Given the description of an element on the screen output the (x, y) to click on. 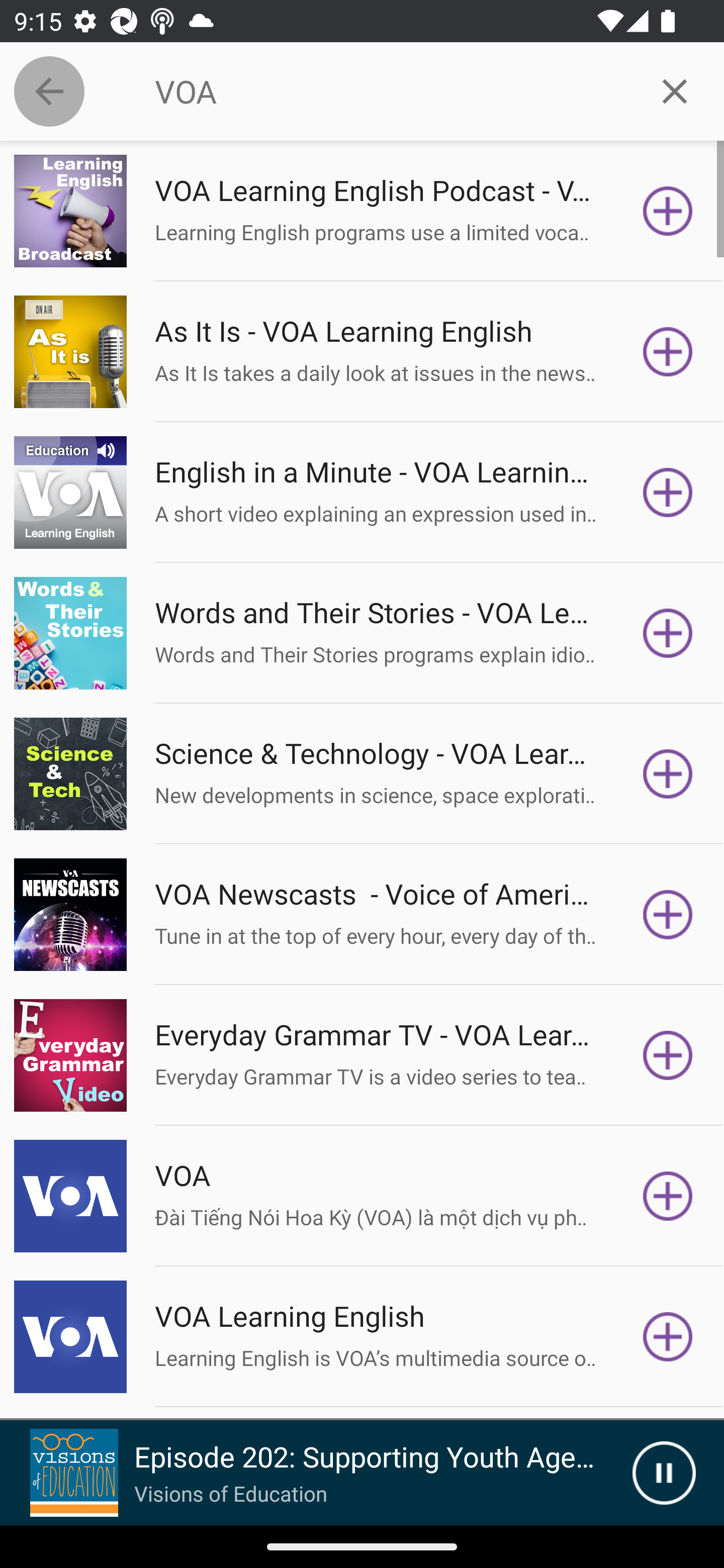
Collapse (49, 91)
Clear query (674, 90)
VOA (389, 91)
Subscribe (667, 211)
Subscribe (667, 350)
Subscribe (667, 491)
Subscribe (667, 633)
Subscribe (667, 773)
Subscribe (667, 913)
Subscribe (667, 1054)
Subscribe (667, 1195)
Subscribe (667, 1336)
Pause (663, 1472)
